Given the description of an element on the screen output the (x, y) to click on. 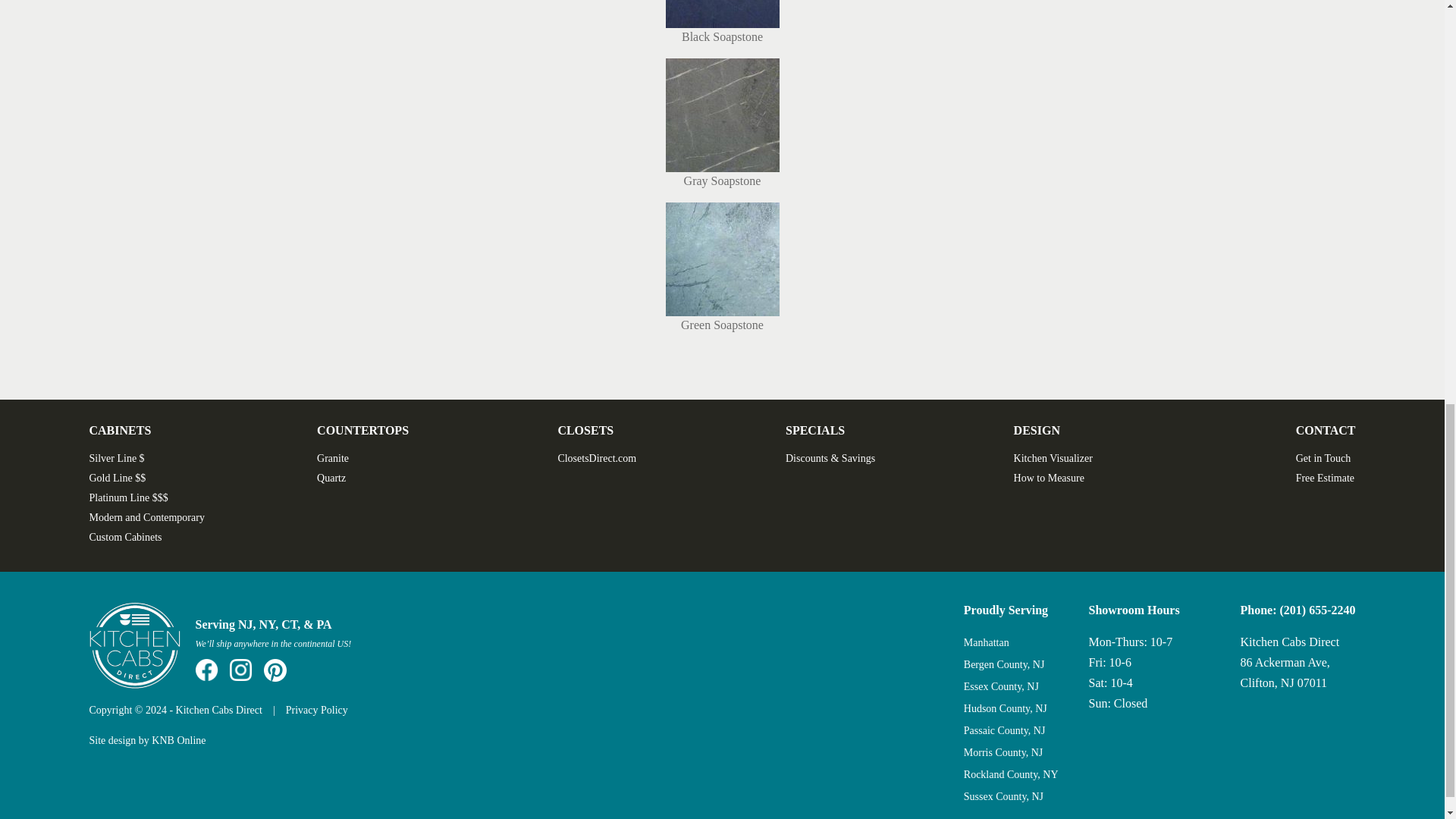
Quartz (331, 478)
Kitchen Visualizer (1053, 458)
Custom Cabinets (124, 536)
ClosetsDirect.com (596, 458)
Modern and Contemporary (146, 517)
Granite (333, 458)
How to Measure (1048, 478)
